Given the description of an element on the screen output the (x, y) to click on. 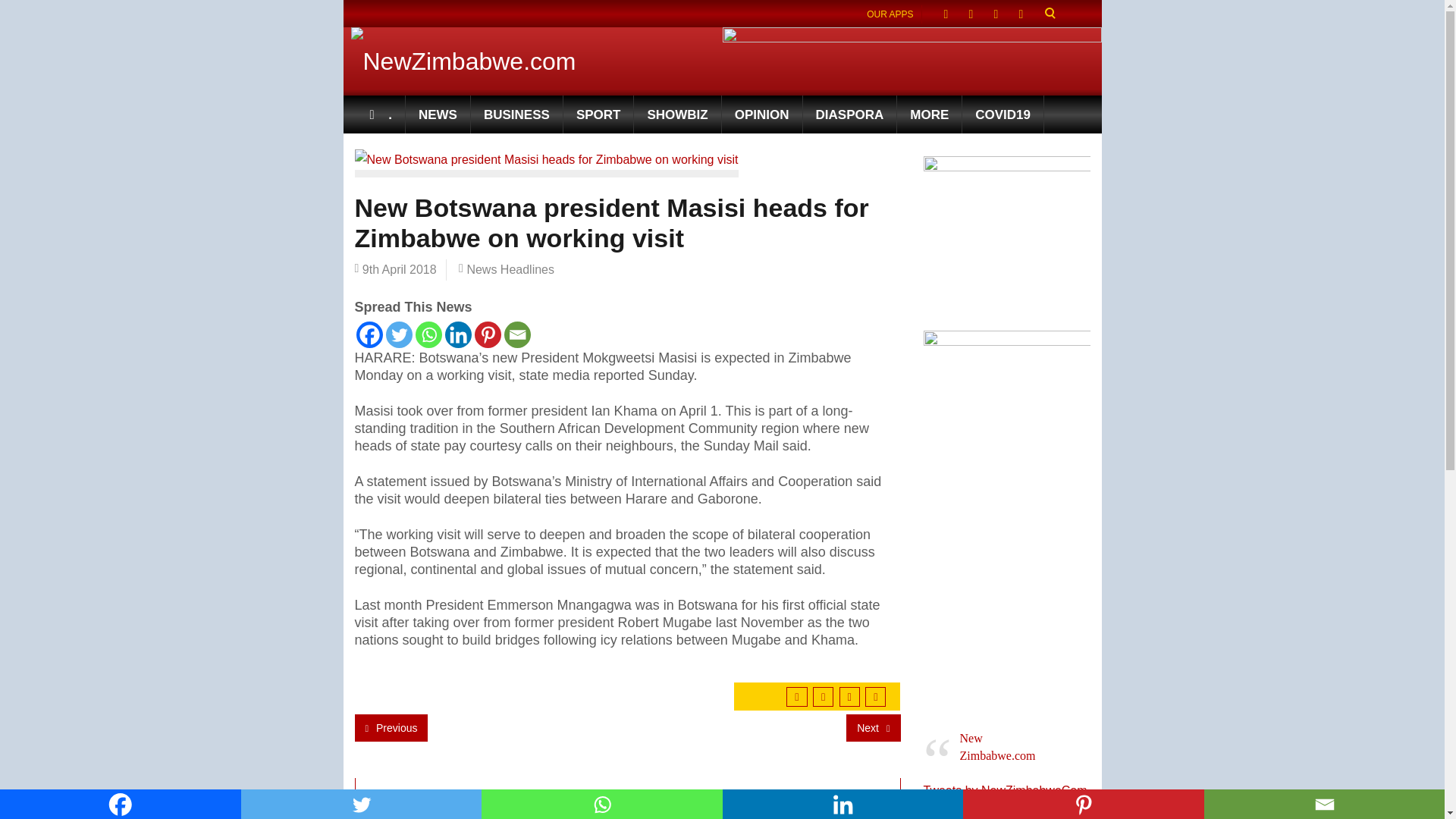
Email (516, 334)
 . (380, 114)
Linkedin (457, 334)
Pinterest (487, 334)
SHOWBIZ (676, 114)
DIASPORA (850, 114)
OPINION (762, 114)
Whatsapp (601, 804)
OUR APPS (890, 13)
Whatsapp (428, 334)
